Given the description of an element on the screen output the (x, y) to click on. 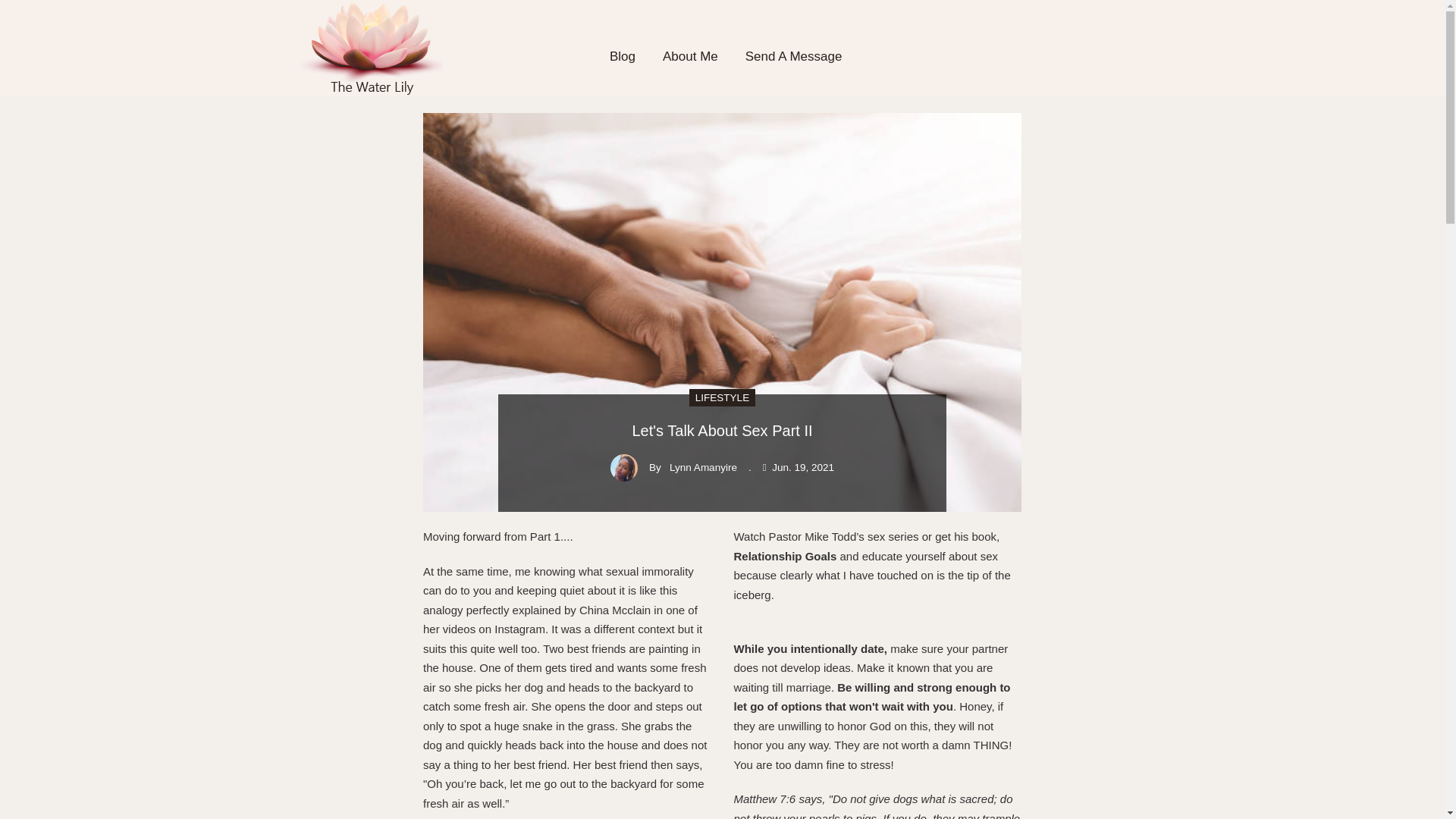
My Bio (690, 55)
About Me (690, 55)
Send A Message (794, 55)
Let's Talk About Sex Part II (721, 430)
Home (370, 46)
LIFESTYLE (721, 396)
Blog (622, 55)
